Given the description of an element on the screen output the (x, y) to click on. 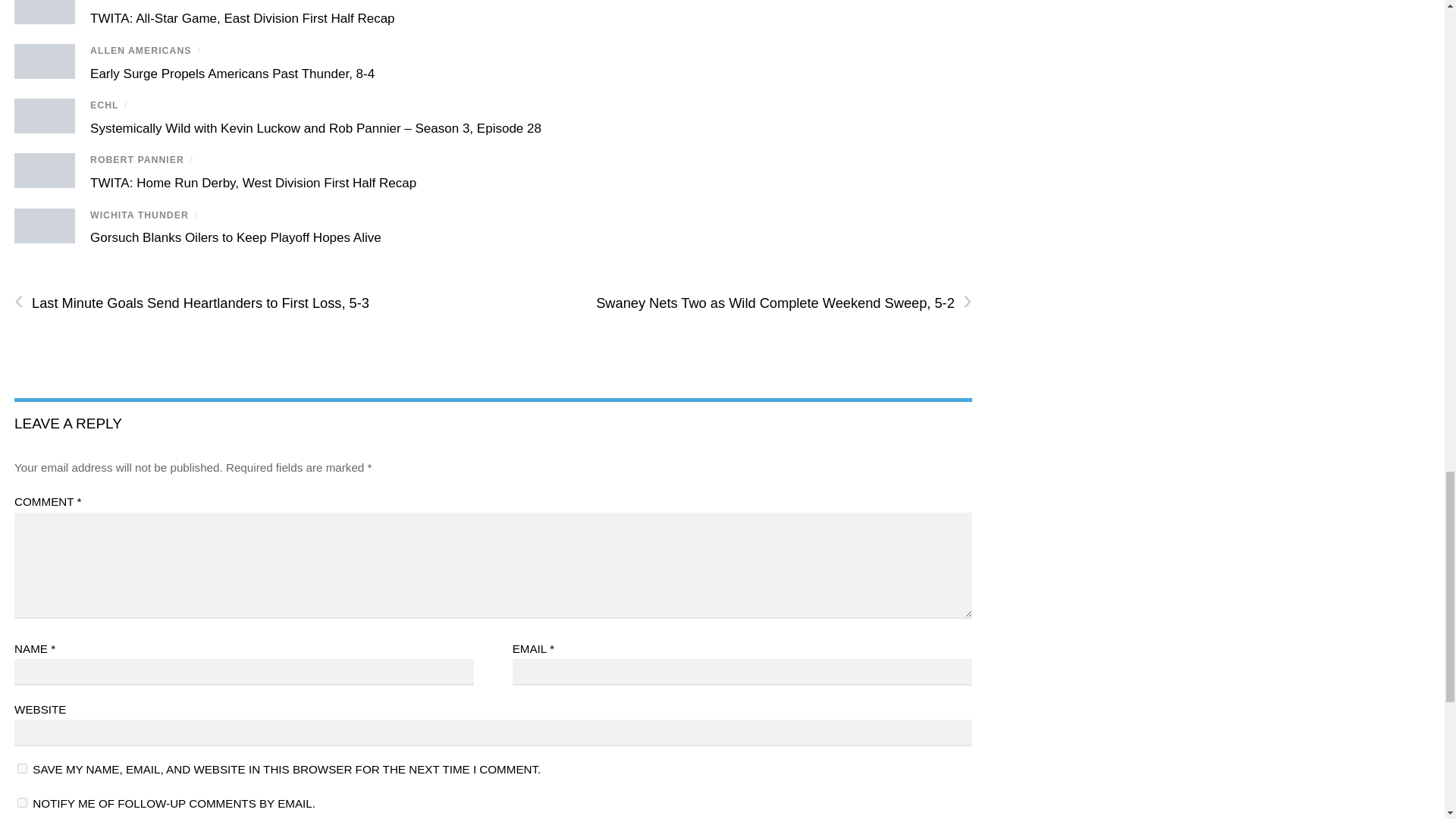
TWITA: Home Run Derby, West Division First Half Recap (253, 183)
Gorsuch Blanks Oilers to Keep Playoff Hopes Alive (235, 237)
Early Surge Propels Americans Past Thunder, 8-4 (232, 73)
TWITA: Home Run Derby, West Division First Half Recap (253, 183)
Thunder (44, 225)
ECHL (103, 104)
TWITA: All-Star Game, East Division First Half Recap (242, 18)
subscribe (22, 802)
WICHITA THUNDER (139, 214)
Early Surge Propels Americans Past Thunder, 8-4 (232, 73)
Gorsuch Blanks Oilers to Keep Playoff Hopes Alive (235, 237)
TWITA: All-Star Game, East Division First Half Recap (242, 18)
yes (22, 768)
ALLEN AMERICANS (140, 50)
